Given the description of an element on the screen output the (x, y) to click on. 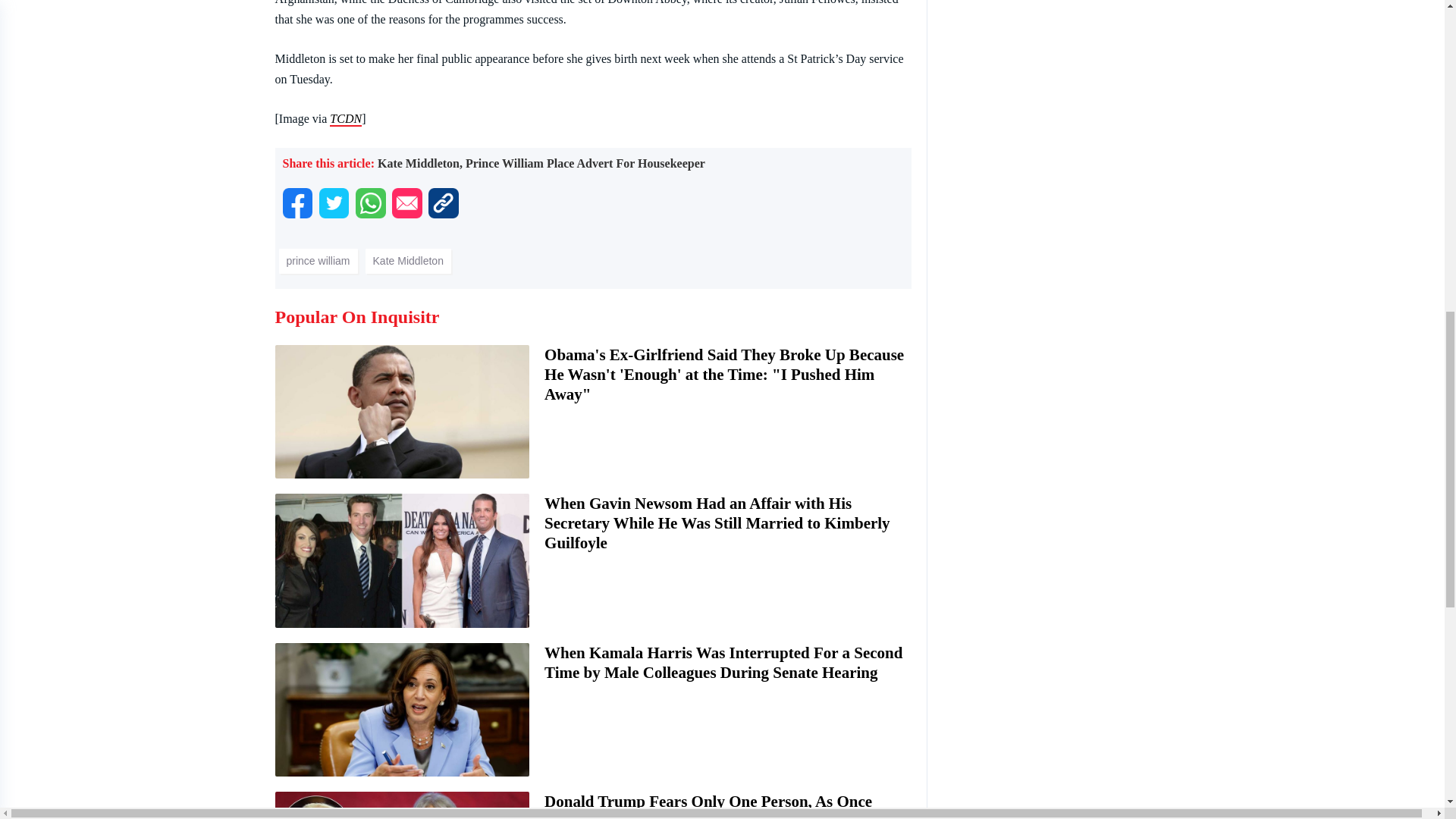
tcdn (345, 119)
